Given the description of an element on the screen output the (x, y) to click on. 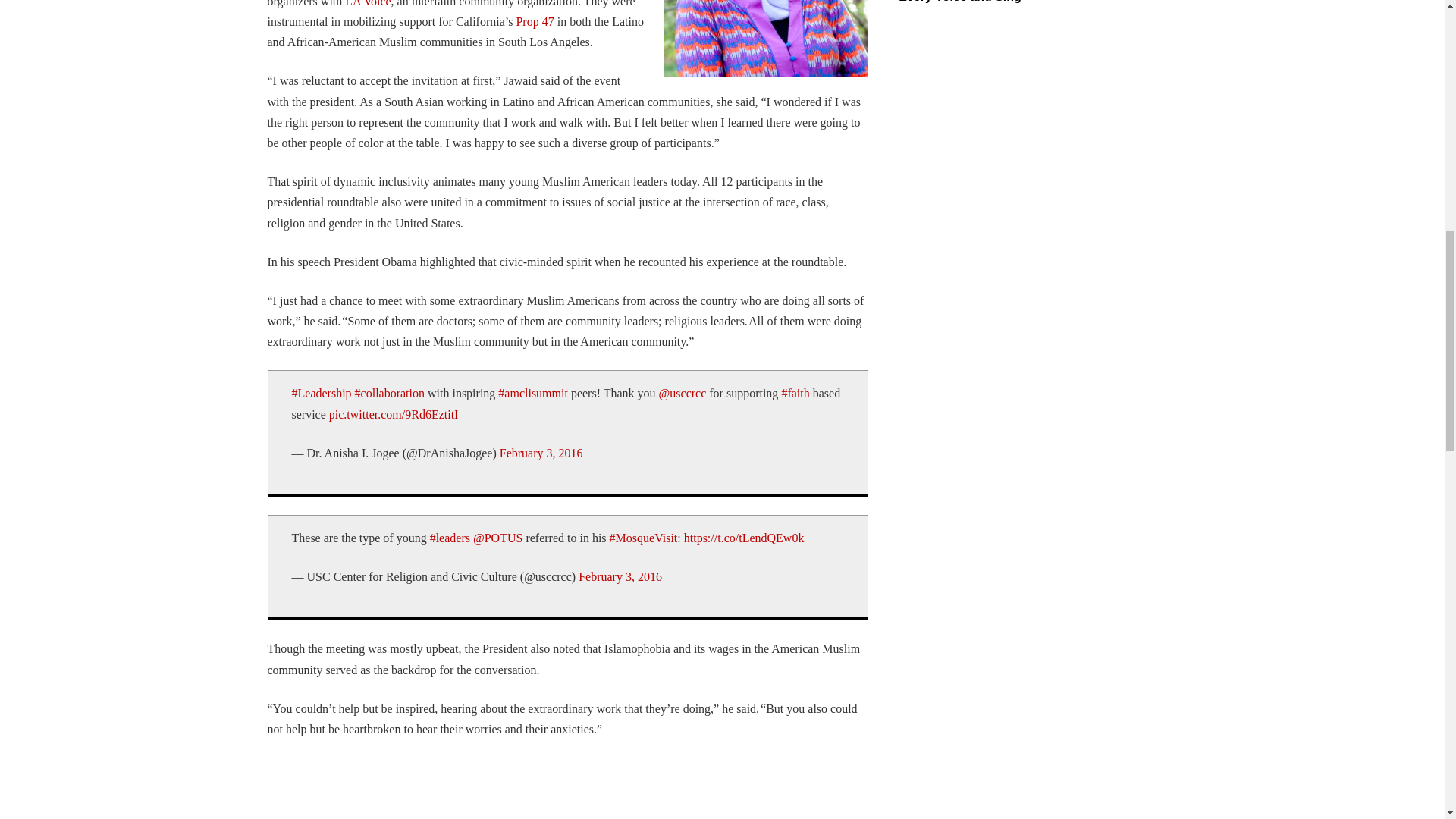
The President Speaks at the Islamic Society of Baltimore (509, 788)
